Given the description of an element on the screen output the (x, y) to click on. 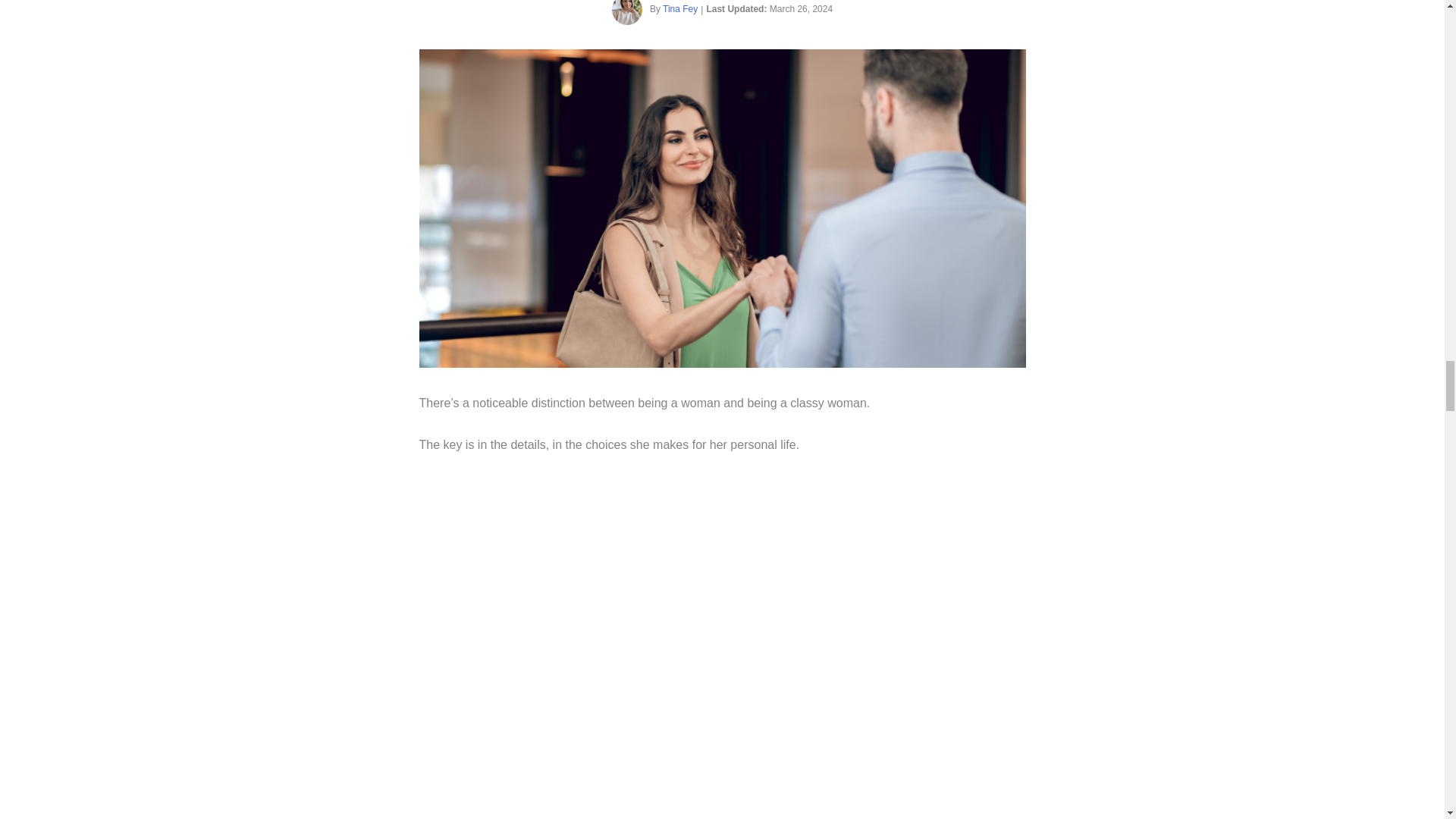
View all posts by Tina Fey (679, 9)
